Given the description of an element on the screen output the (x, y) to click on. 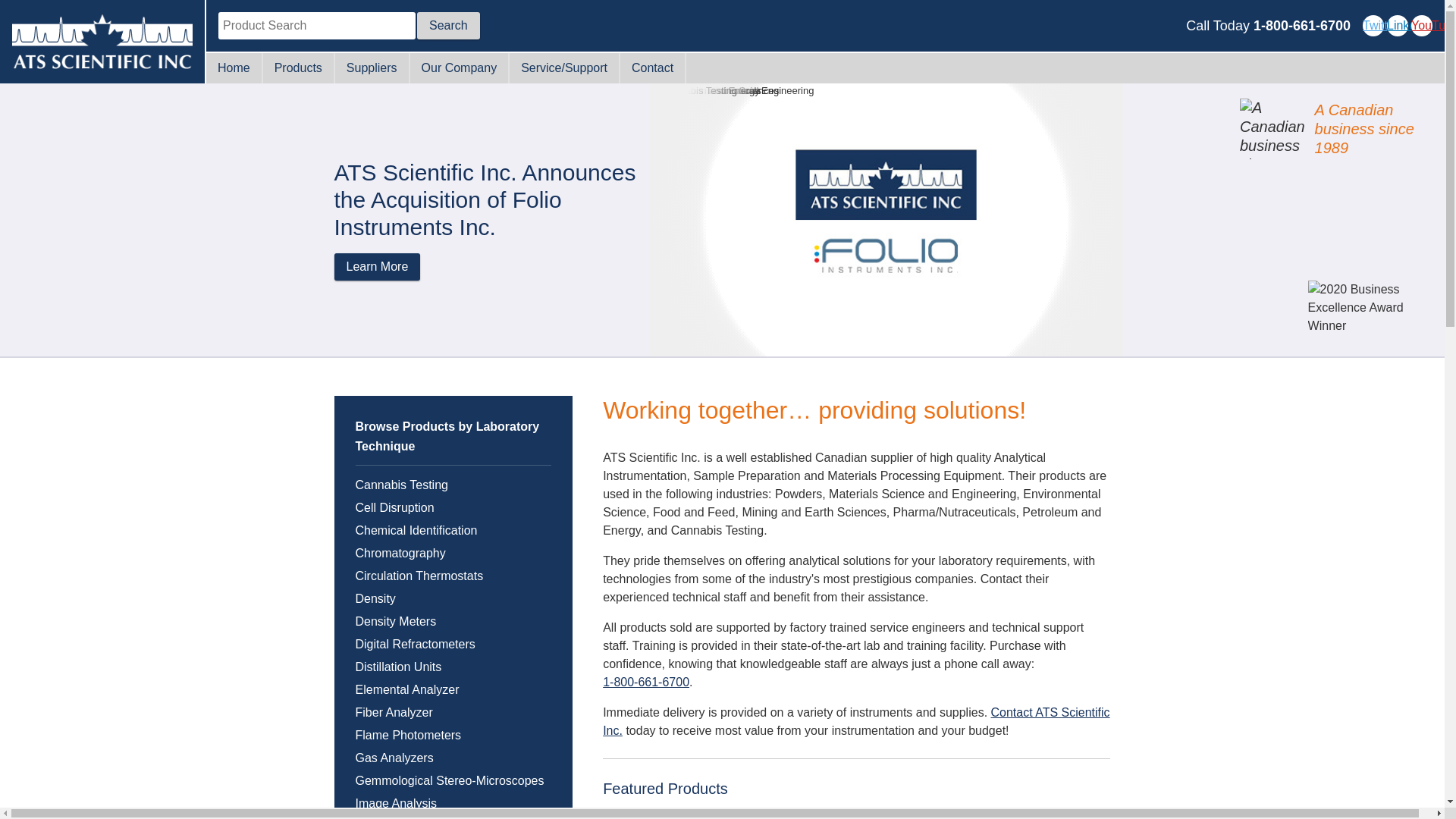
Search (448, 25)
Our Company (459, 68)
Products (298, 68)
Visit the ATS Scientific home page (101, 41)
Home (234, 68)
Suppliers (371, 68)
Search (448, 25)
